Given the description of an element on the screen output the (x, y) to click on. 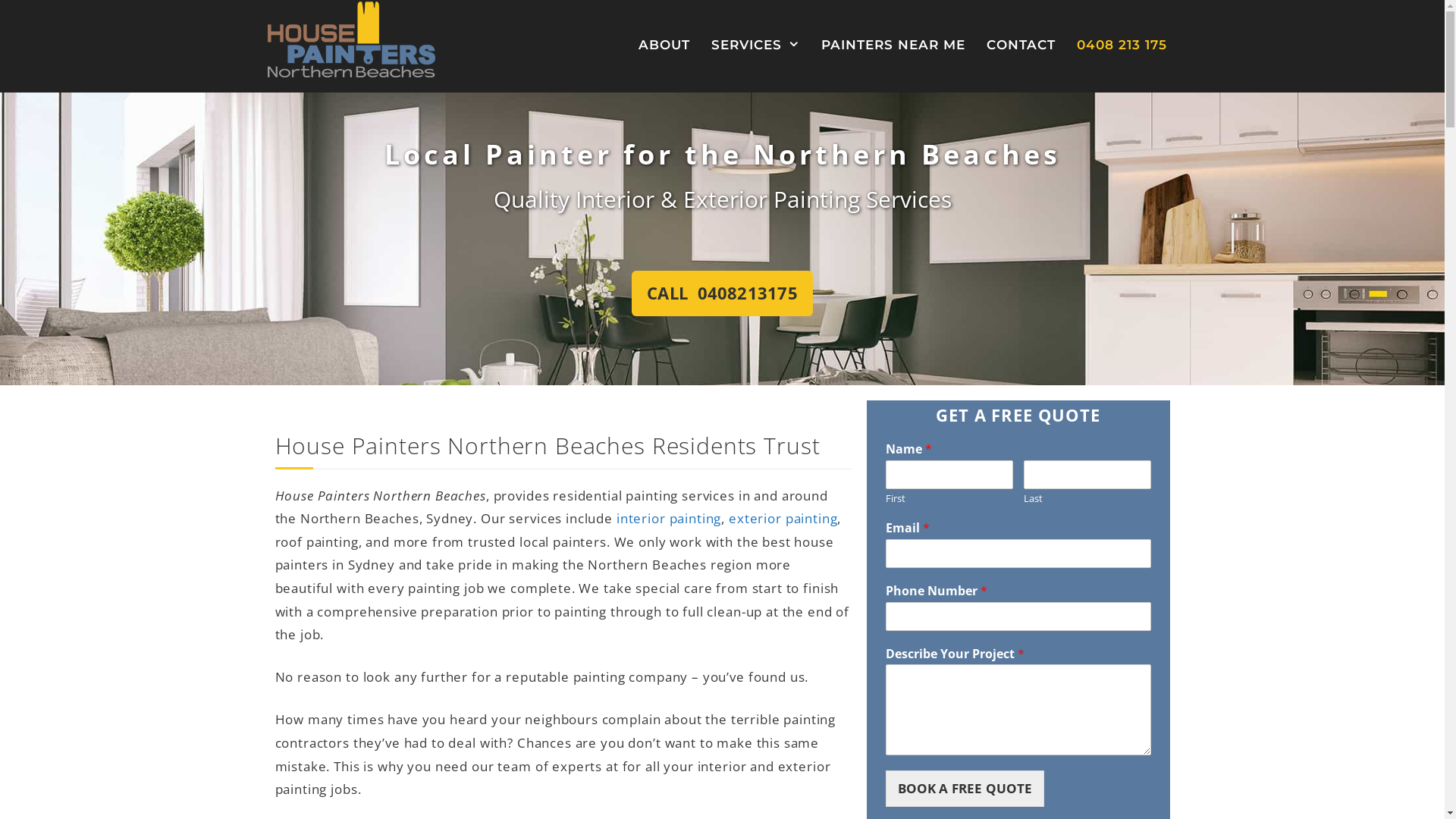
interior painting Element type: text (668, 518)
House Painters Northern Beaches Element type: hover (350, 39)
CALL  0408213175 Element type: text (721, 293)
exterior painting Element type: text (782, 518)
House Painters Northern Beaches Element type: hover (350, 38)
SERVICES Element type: text (755, 44)
BOOK A FREE QUOTE Element type: text (964, 788)
CONTACT Element type: text (1020, 44)
ABOUT Element type: text (663, 44)
0408 213 175 Element type: text (1121, 44)
PAINTERS NEAR ME Element type: text (892, 44)
